Given the description of an element on the screen output the (x, y) to click on. 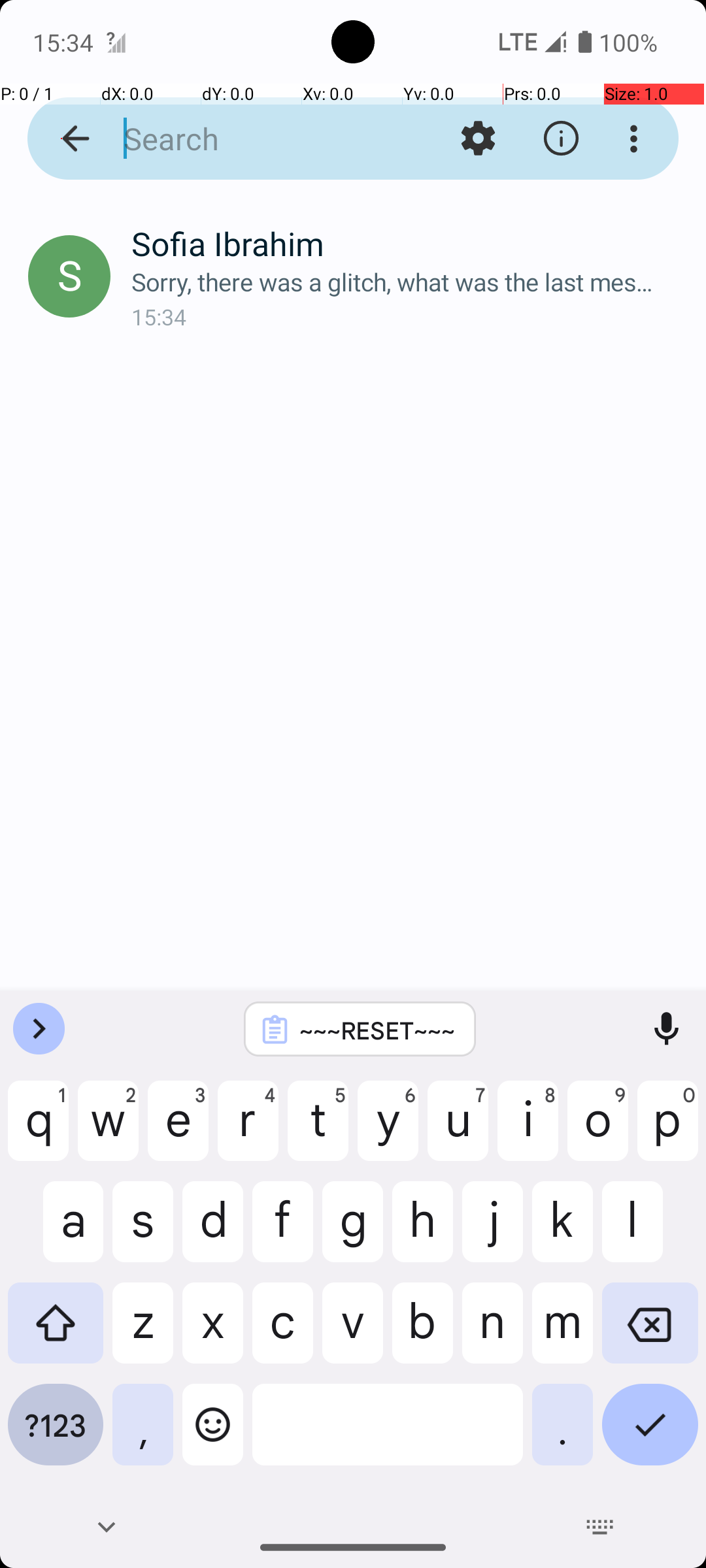
Sofia Ibrahim Element type: android.widget.TextView (408, 242)
